Given the description of an element on the screen output the (x, y) to click on. 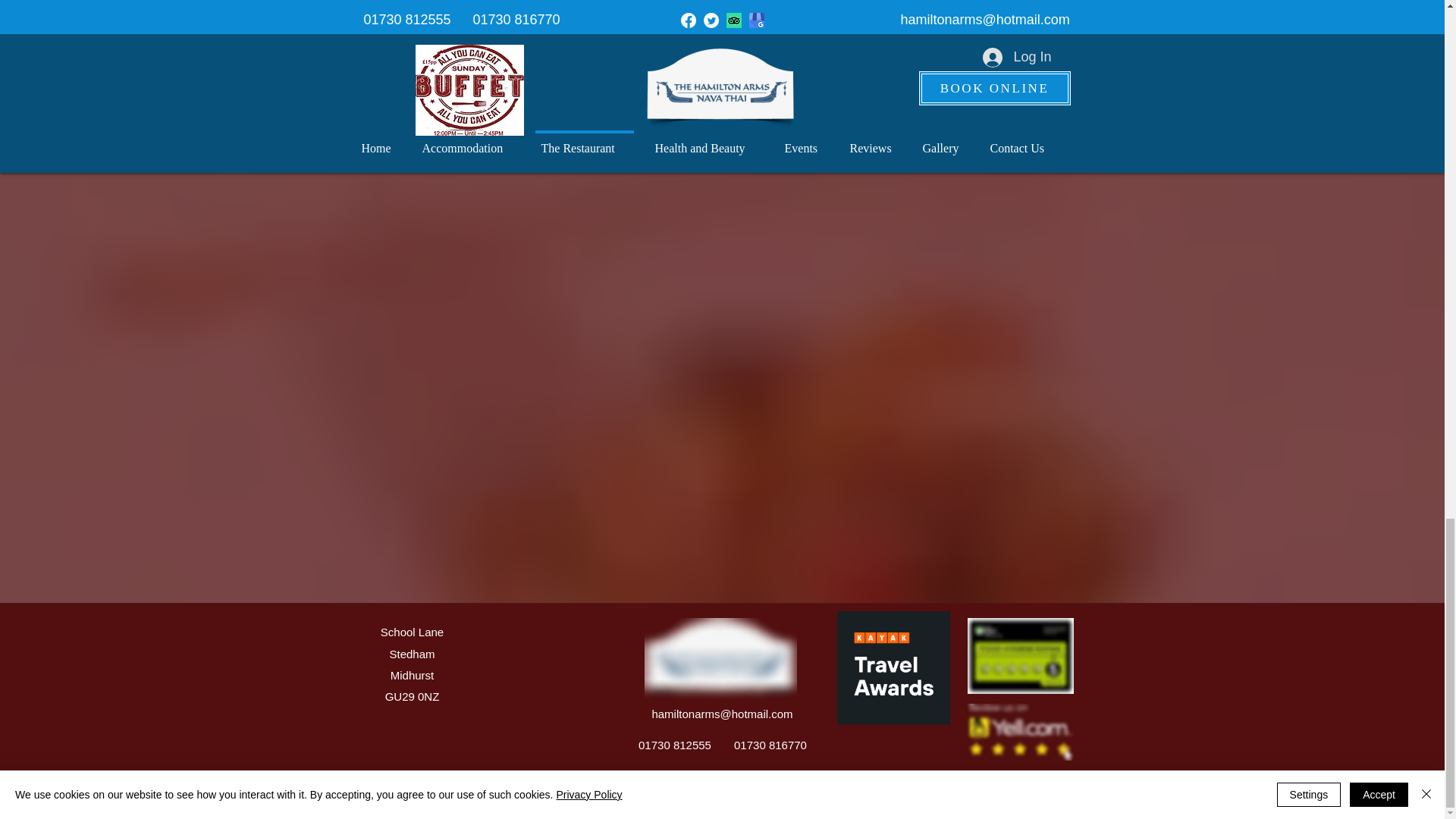
Kayak Travel Award (918, 677)
Trading Terms (752, 788)
Terms of Use (558, 788)
